Given the description of an element on the screen output the (x, y) to click on. 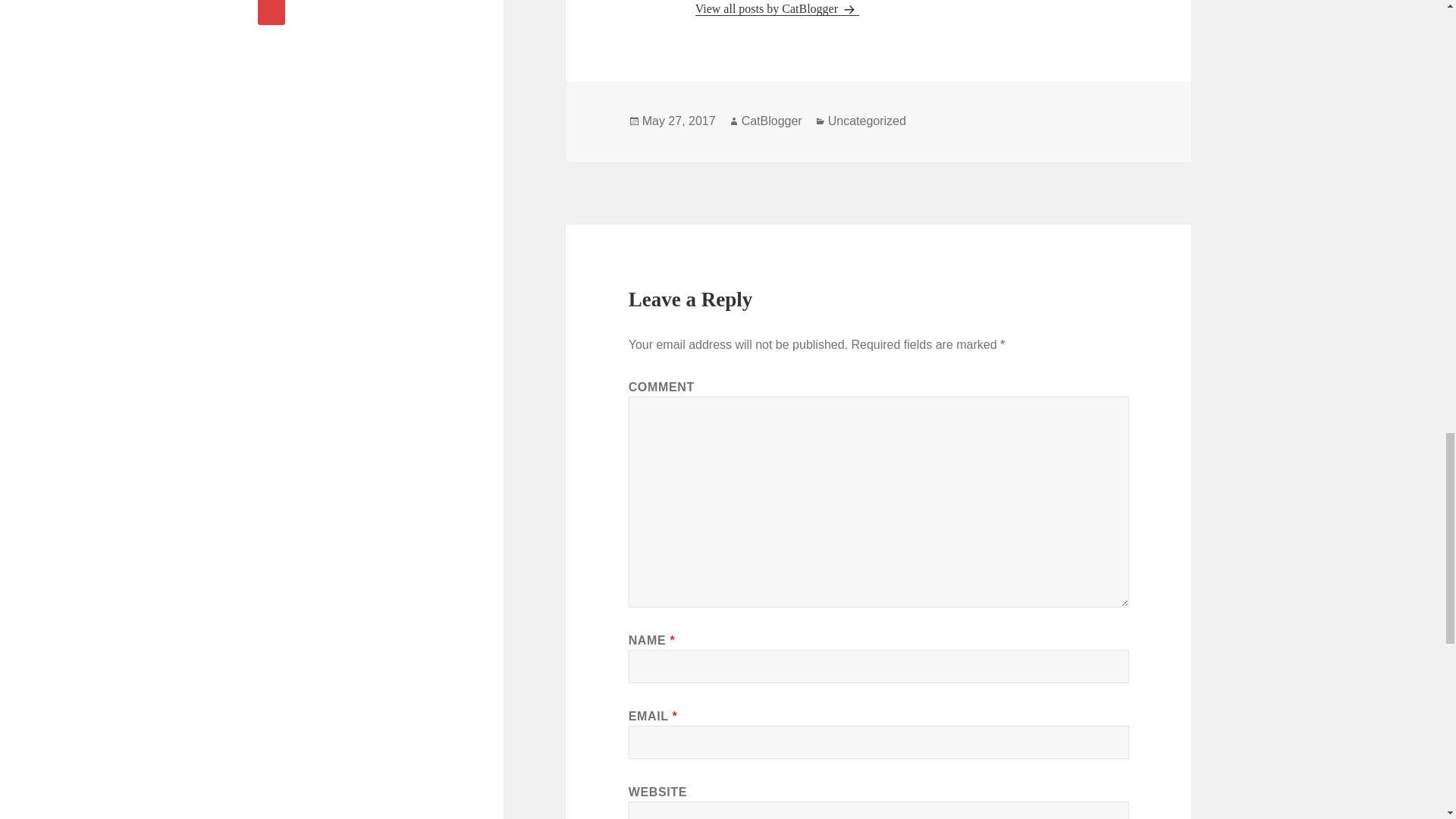
Uncategorized (866, 120)
View all posts by CatBlogger (777, 8)
May 27, 2017 (679, 120)
CatBlogger (771, 120)
